Given the description of an element on the screen output the (x, y) to click on. 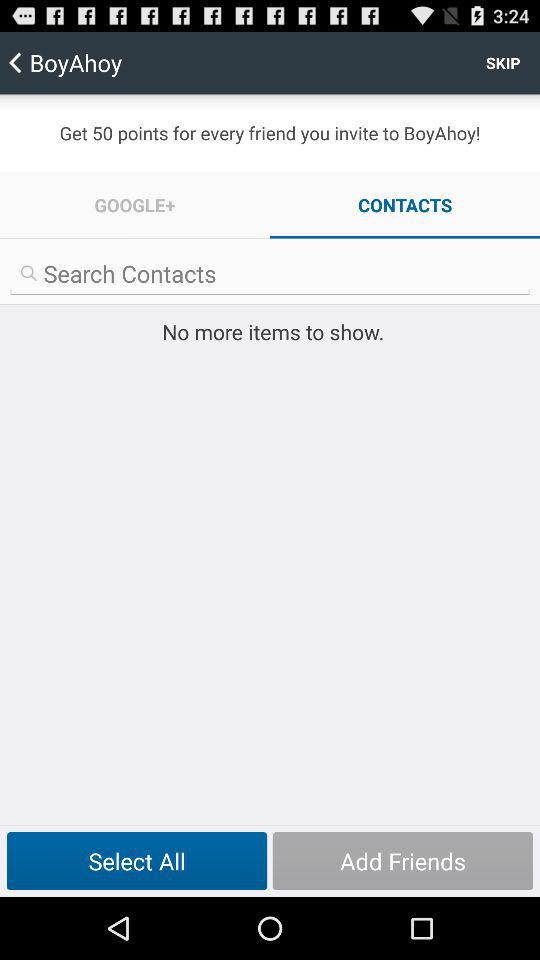
tap icon to the left of contacts (135, 204)
